Given the description of an element on the screen output the (x, y) to click on. 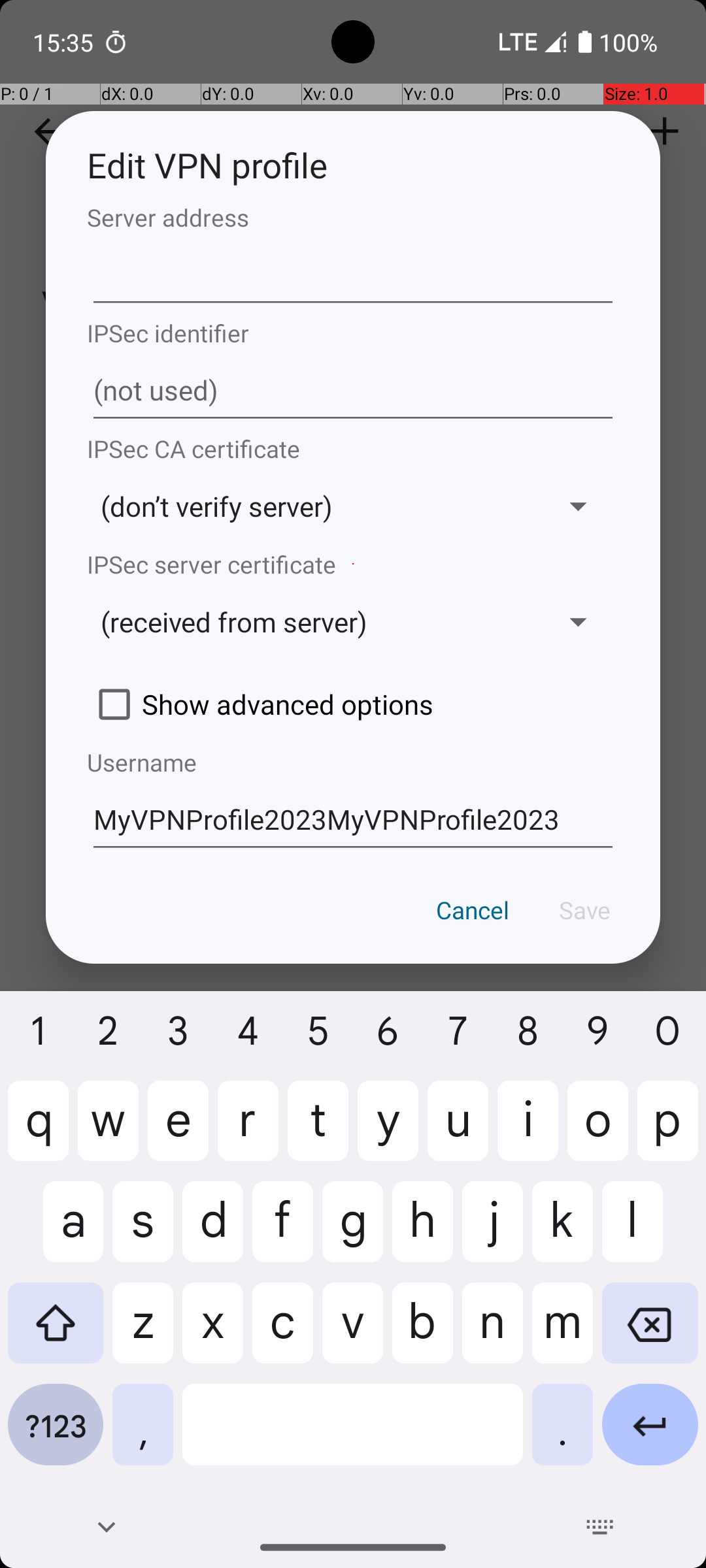
Edit VPN profile Element type: android.widget.TextView (352, 164)
Server address Element type: android.widget.TextView (352, 216)
IPSec identifier Element type: android.widget.TextView (352, 332)
(not used) Element type: android.widget.EditText (352, 390)
IPSec CA certificate Element type: android.widget.TextView (352, 448)
IPSec server certificate Element type: android.widget.TextView (352, 563)
Show advanced options Element type: android.widget.CheckBox (352, 704)
Username Element type: android.widget.TextView (352, 761)
MyVPNProfile2023MyVPNProfile2023 Element type: android.widget.EditText (352, 817)
(don’t verify server) Element type: android.widget.TextView (311, 505)
(received from server) Element type: android.widget.TextView (311, 621)
